Given the description of an element on the screen output the (x, y) to click on. 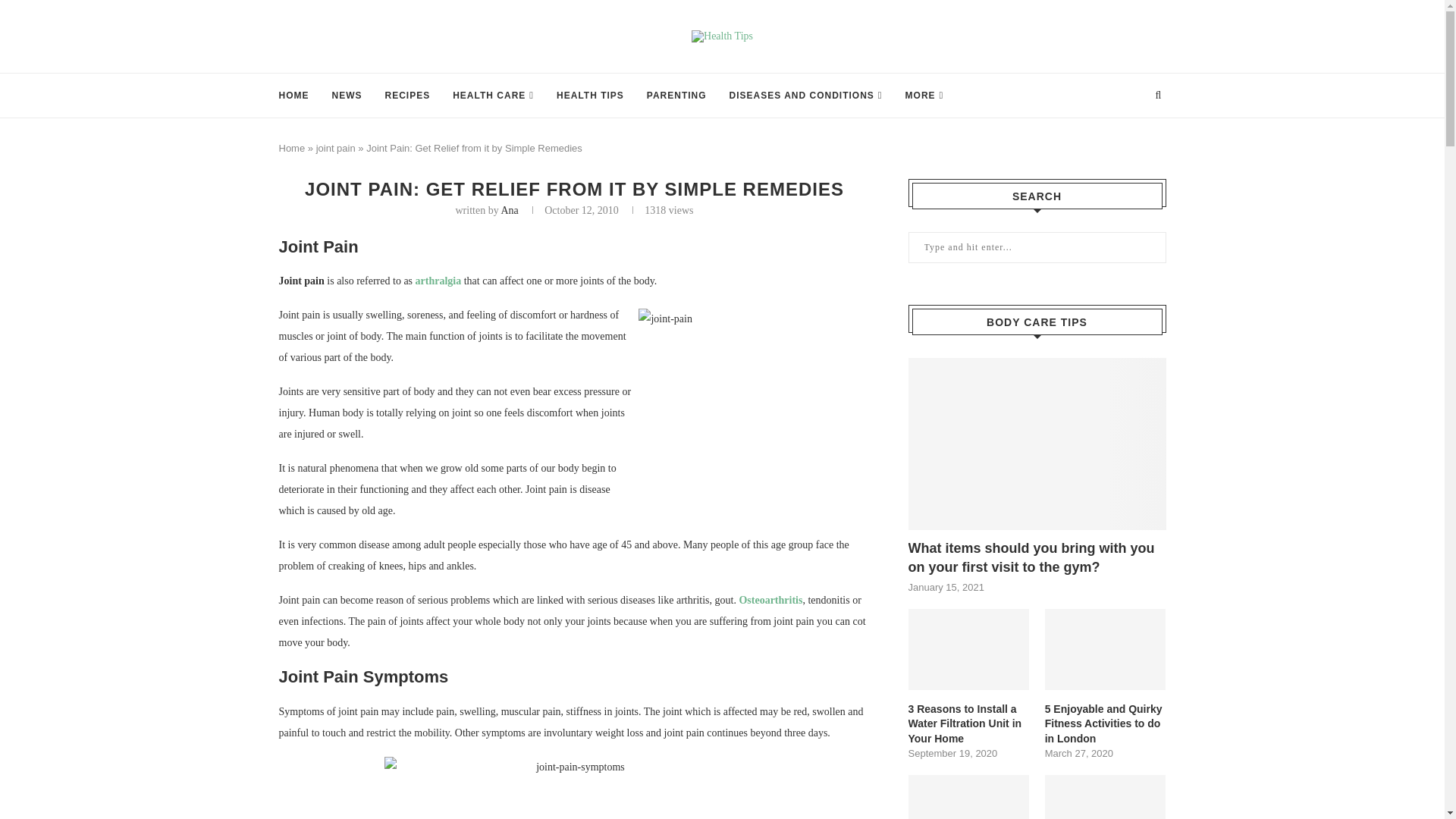
HEALTH CARE (493, 95)
RECIPES (407, 95)
PARENTING (676, 95)
HEALTH TIPS (590, 95)
joint-pain-symptoms (573, 787)
DISEASES AND CONDITIONS (805, 95)
Arthralgia (437, 280)
Osteoarthritis (770, 600)
joint-pain (752, 393)
